Given the description of an element on the screen output the (x, y) to click on. 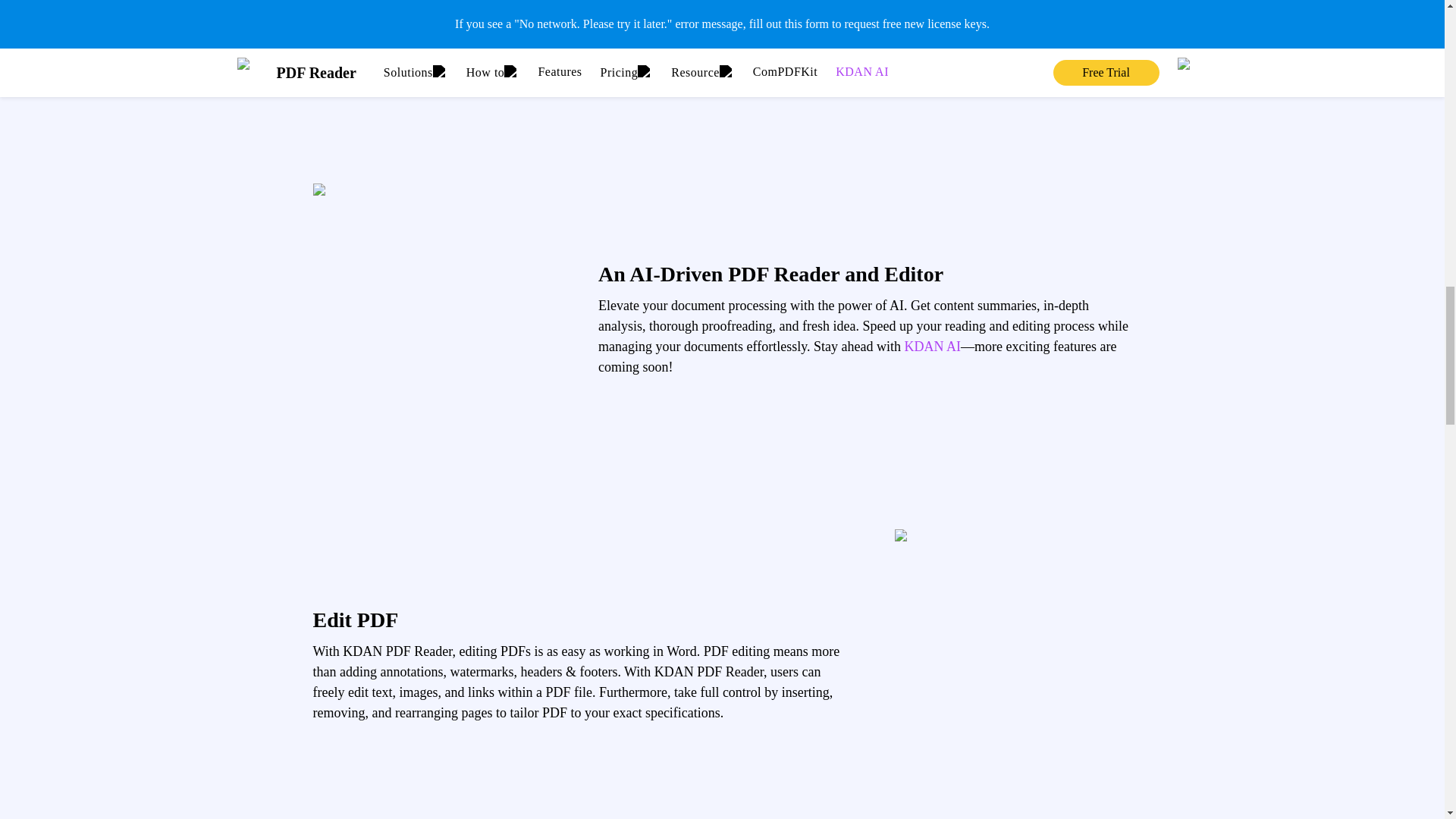
Convert PDF (404, 15)
Split PDF (827, 15)
KDAN AI (932, 346)
Encrypt PDF (1040, 15)
Merge PDF (615, 15)
